Given the description of an element on the screen output the (x, y) to click on. 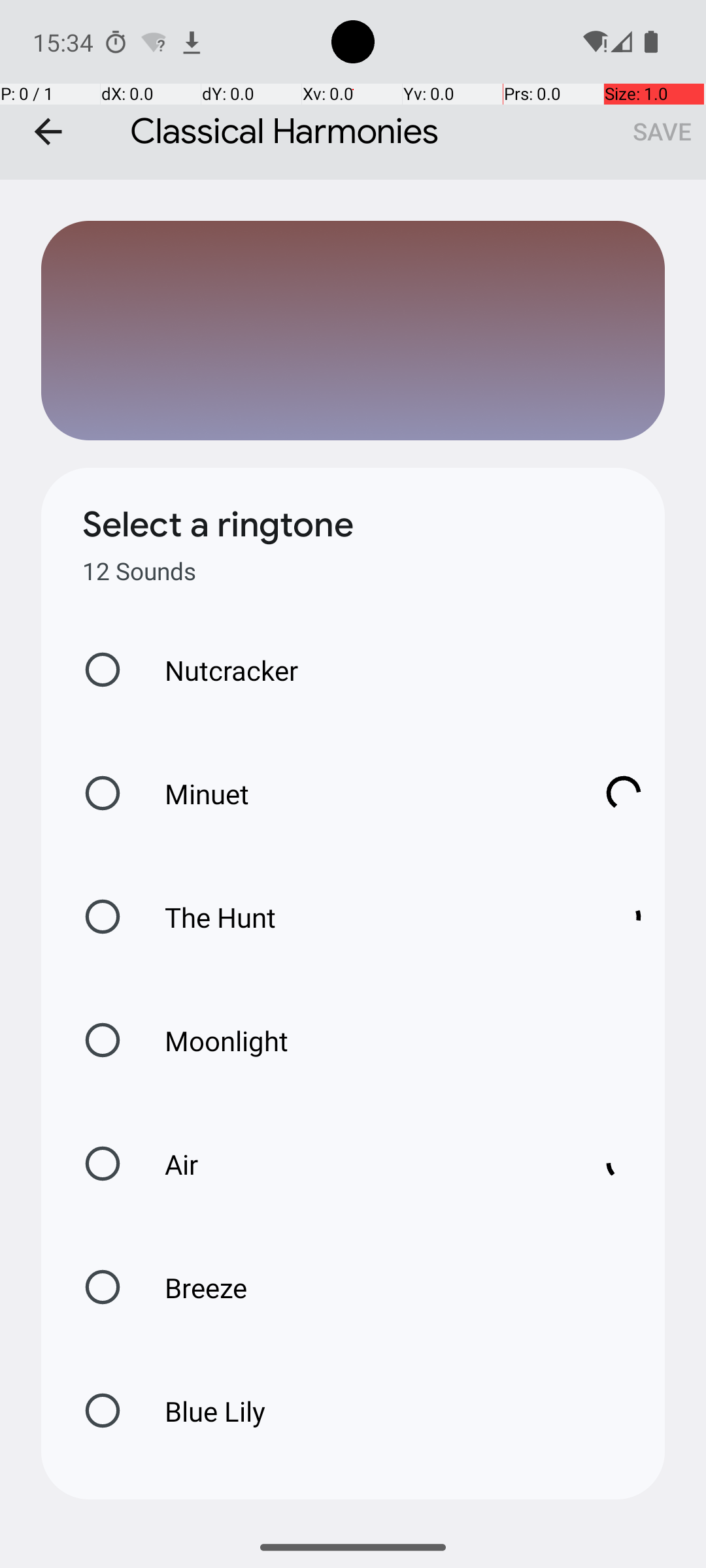
Nutcracker Element type: android.widget.TextView (217, 669)
Minuet Element type: android.widget.TextView (359, 793)
The Hunt Element type: android.widget.TextView (359, 916)
Moonlight Element type: android.widget.TextView (212, 1040)
Air Element type: android.widget.TextView (359, 1163)
Breeze Element type: android.widget.TextView (192, 1287)
Blue Lily Element type: android.widget.TextView (201, 1410)
